Given the description of an element on the screen output the (x, y) to click on. 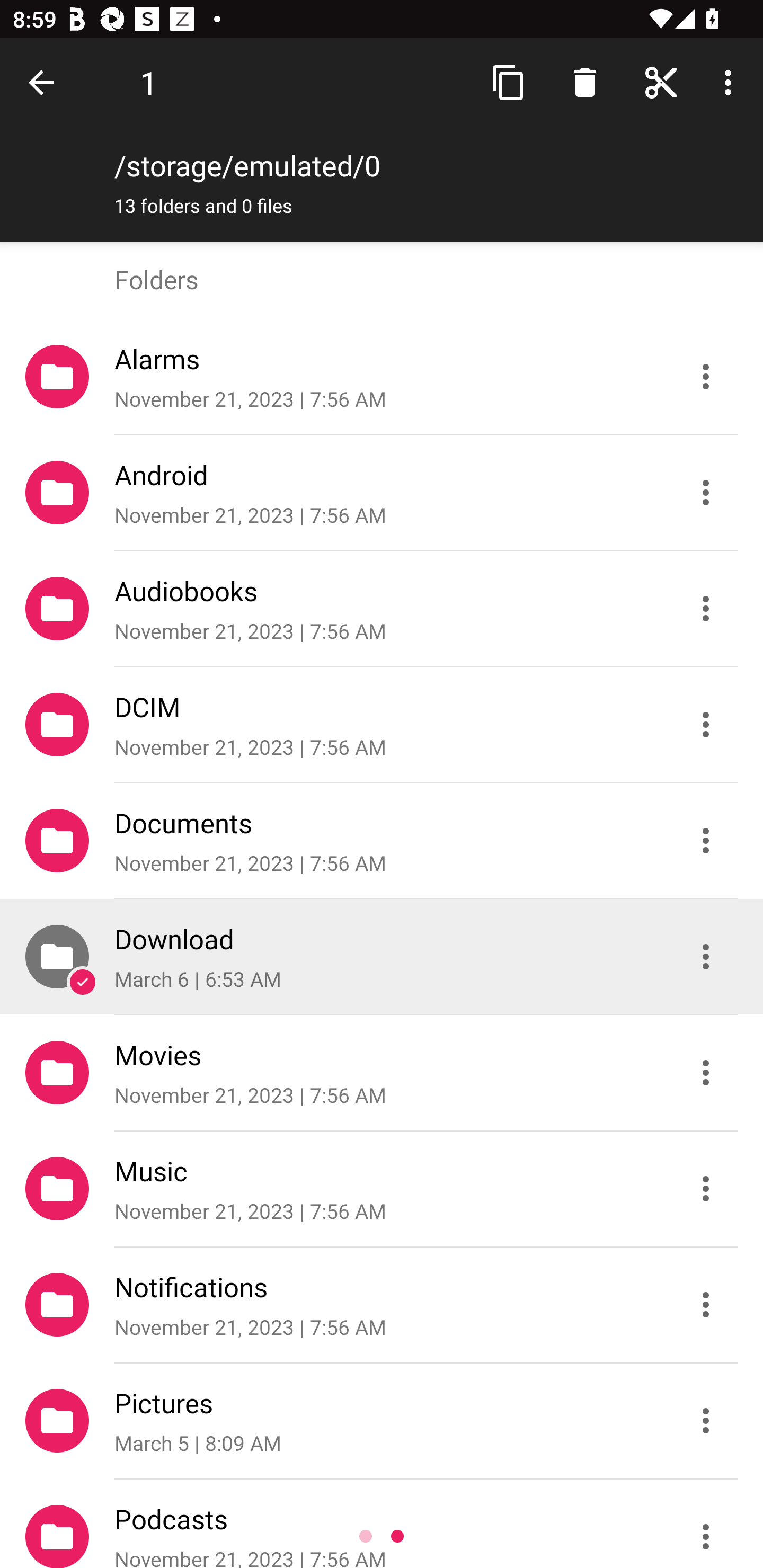
1 (148, 82)
Done (44, 81)
Copy (508, 81)
Search (585, 81)
Home (661, 81)
More options (731, 81)
Alarms November 21, 2023 | 7:56 AM (381, 376)
Android November 21, 2023 | 7:56 AM (381, 492)
Audiobooks November 21, 2023 | 7:56 AM (381, 608)
DCIM November 21, 2023 | 7:56 AM (381, 724)
Documents November 21, 2023 | 7:56 AM (381, 841)
Download March 6 | 6:53 AM (381, 957)
Movies November 21, 2023 | 7:56 AM (381, 1073)
Music November 21, 2023 | 7:56 AM (381, 1189)
Notifications November 21, 2023 | 7:56 AM (381, 1305)
Pictures March 5 | 8:09 AM (381, 1421)
Podcasts November 21, 2023 | 7:56 AM (381, 1524)
